Given the description of an element on the screen output the (x, y) to click on. 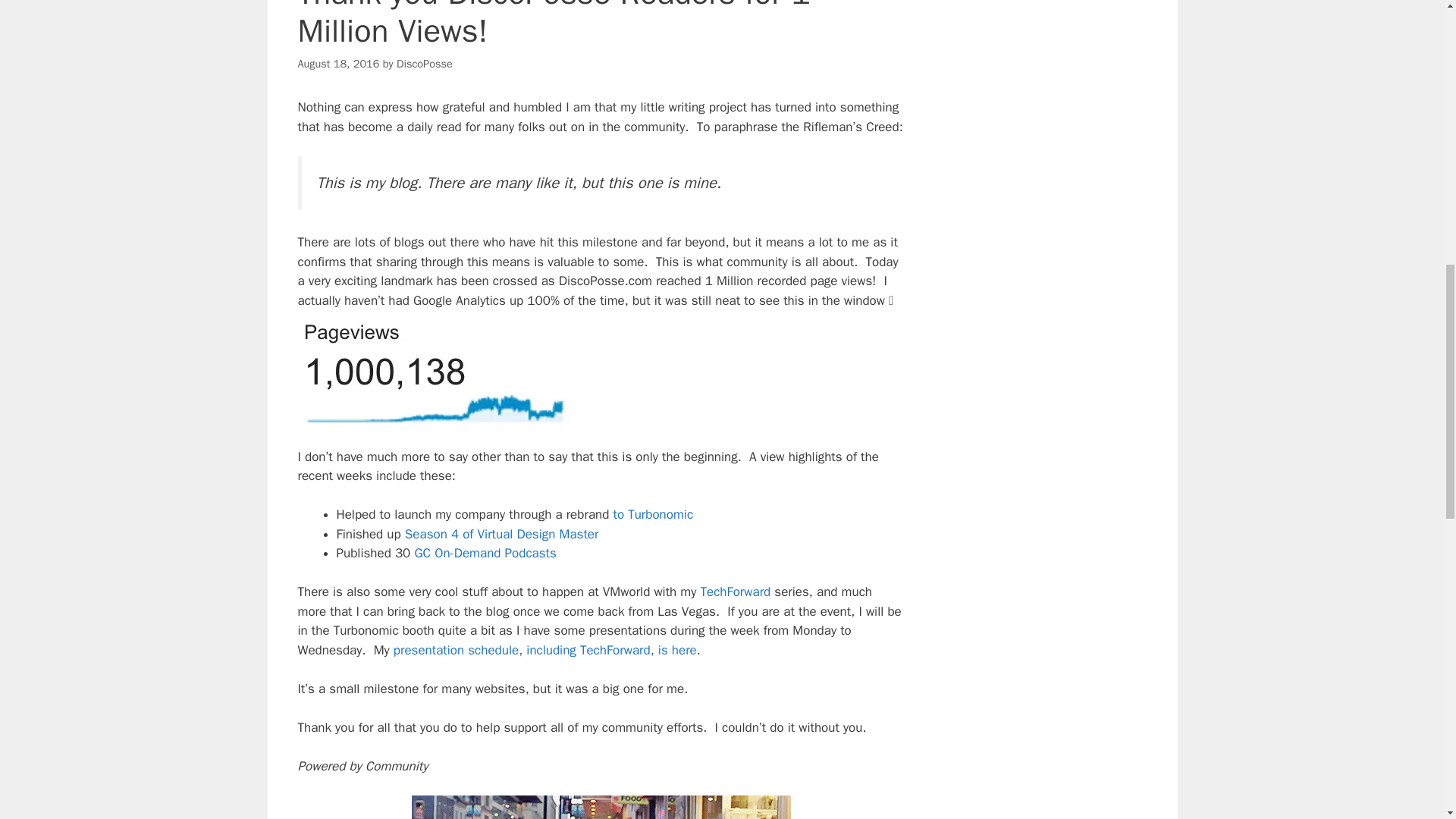
DiscoPosse (424, 63)
Season 4 of Virtual Design Master (501, 534)
TechForward (735, 591)
 to Turbonomic (650, 514)
View all posts by DiscoPosse (424, 63)
Scroll back to top (1406, 720)
GC On-Demand Podcasts (484, 553)
presentation schedule, including TechForward, is here (545, 650)
